Given the description of an element on the screen output the (x, y) to click on. 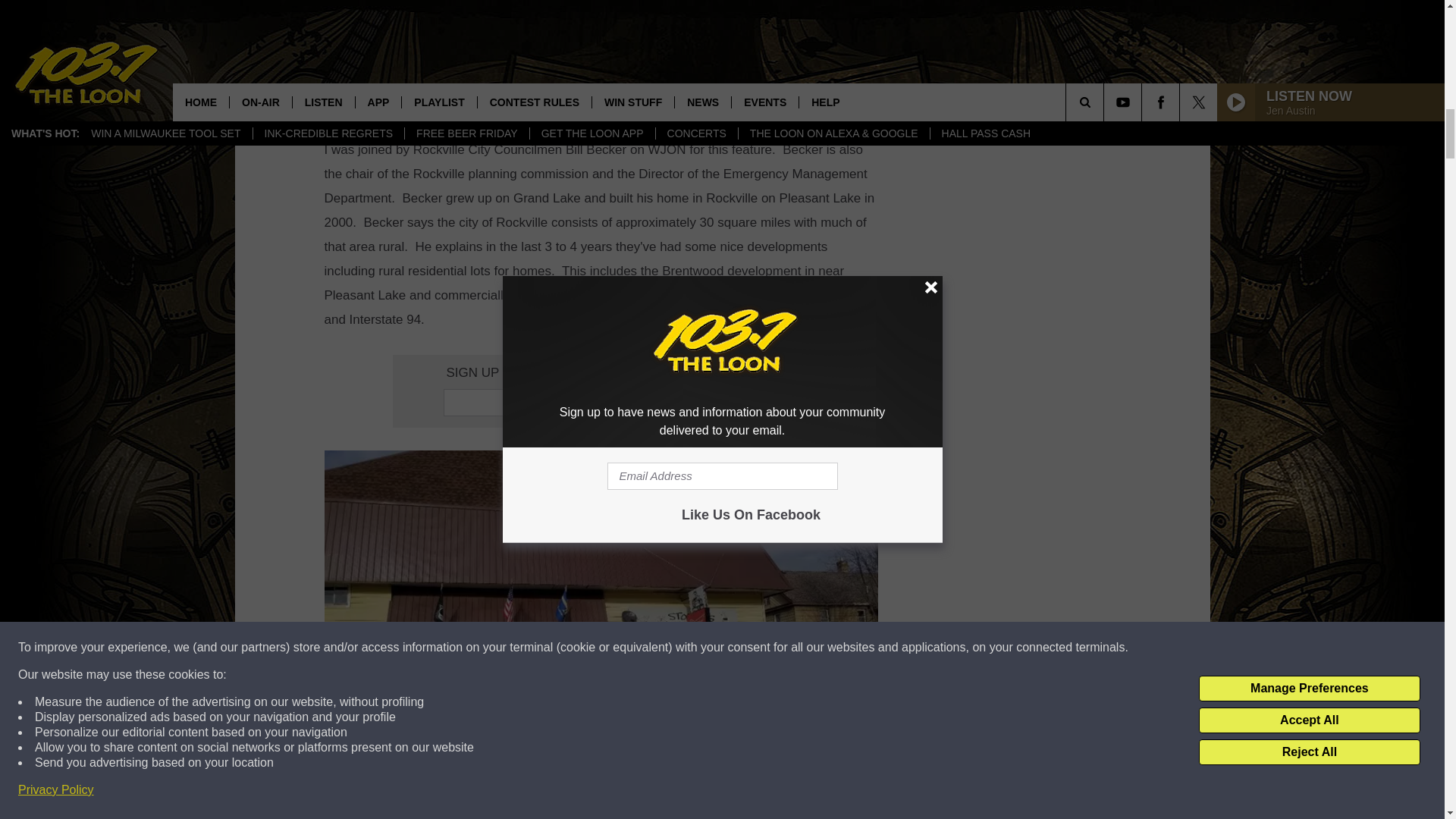
Email Address (600, 402)
